Given the description of an element on the screen output the (x, y) to click on. 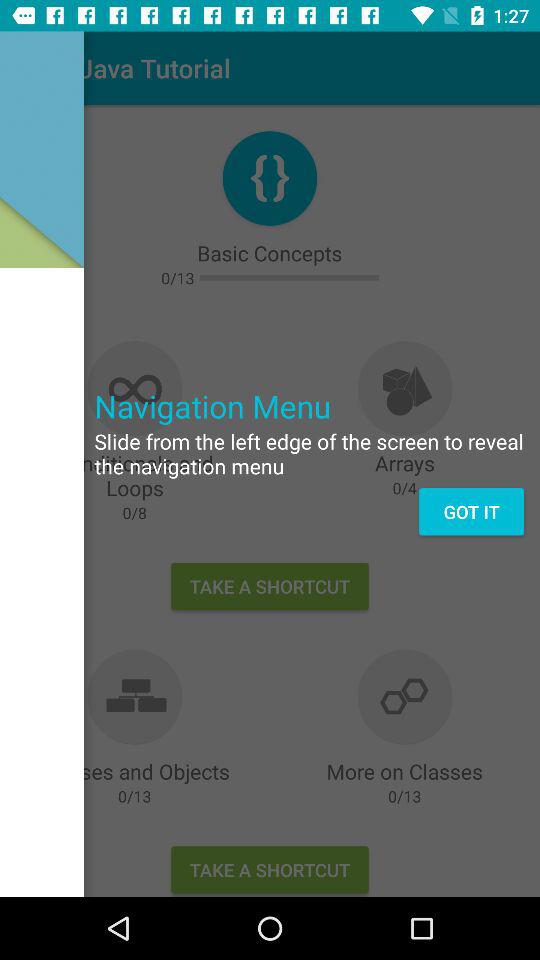
jump to got it icon (471, 511)
